Given the description of an element on the screen output the (x, y) to click on. 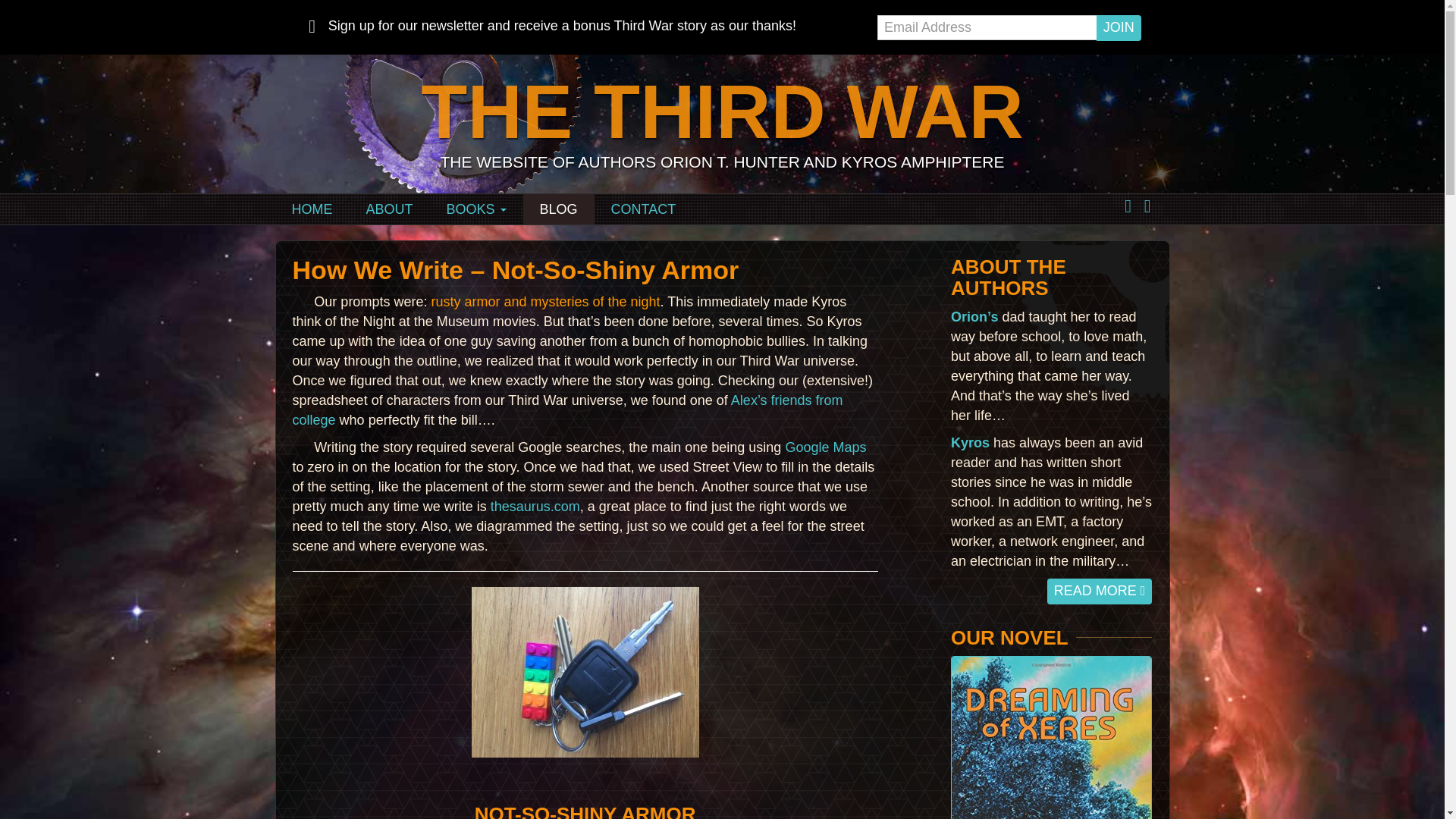
READ MORE (1099, 591)
ABOUT (389, 209)
thesaurus.com (534, 506)
HOME (312, 209)
BLOG (558, 209)
Blog (558, 209)
Join (1118, 27)
THE THIRD WAR (721, 110)
Join (1118, 27)
Contact (643, 209)
Home (312, 209)
CONTACT (643, 209)
Books (475, 209)
BOOKS (475, 209)
About (389, 209)
